Given the description of an element on the screen output the (x, y) to click on. 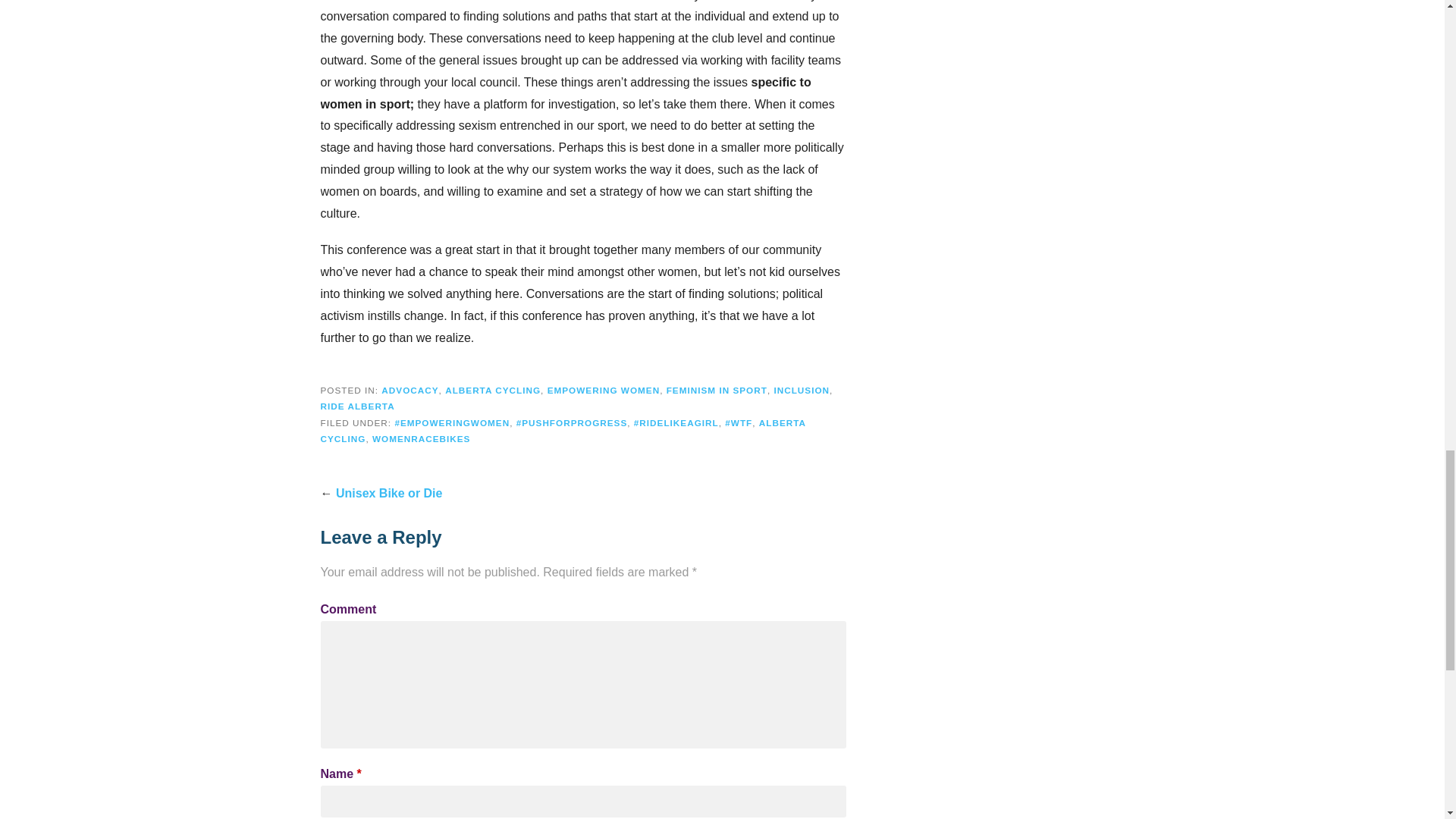
INCLUSION (801, 389)
ALBERTA CYCLING (562, 430)
EMPOWERING WOMEN (604, 389)
ALBERTA CYCLING (492, 389)
FEMINISM IN SPORT (716, 389)
Unisex Bike or Die (389, 492)
RIDE ALBERTA (357, 406)
WOMENRACEBIKES (421, 438)
ADVOCACY (409, 389)
